Given the description of an element on the screen output the (x, y) to click on. 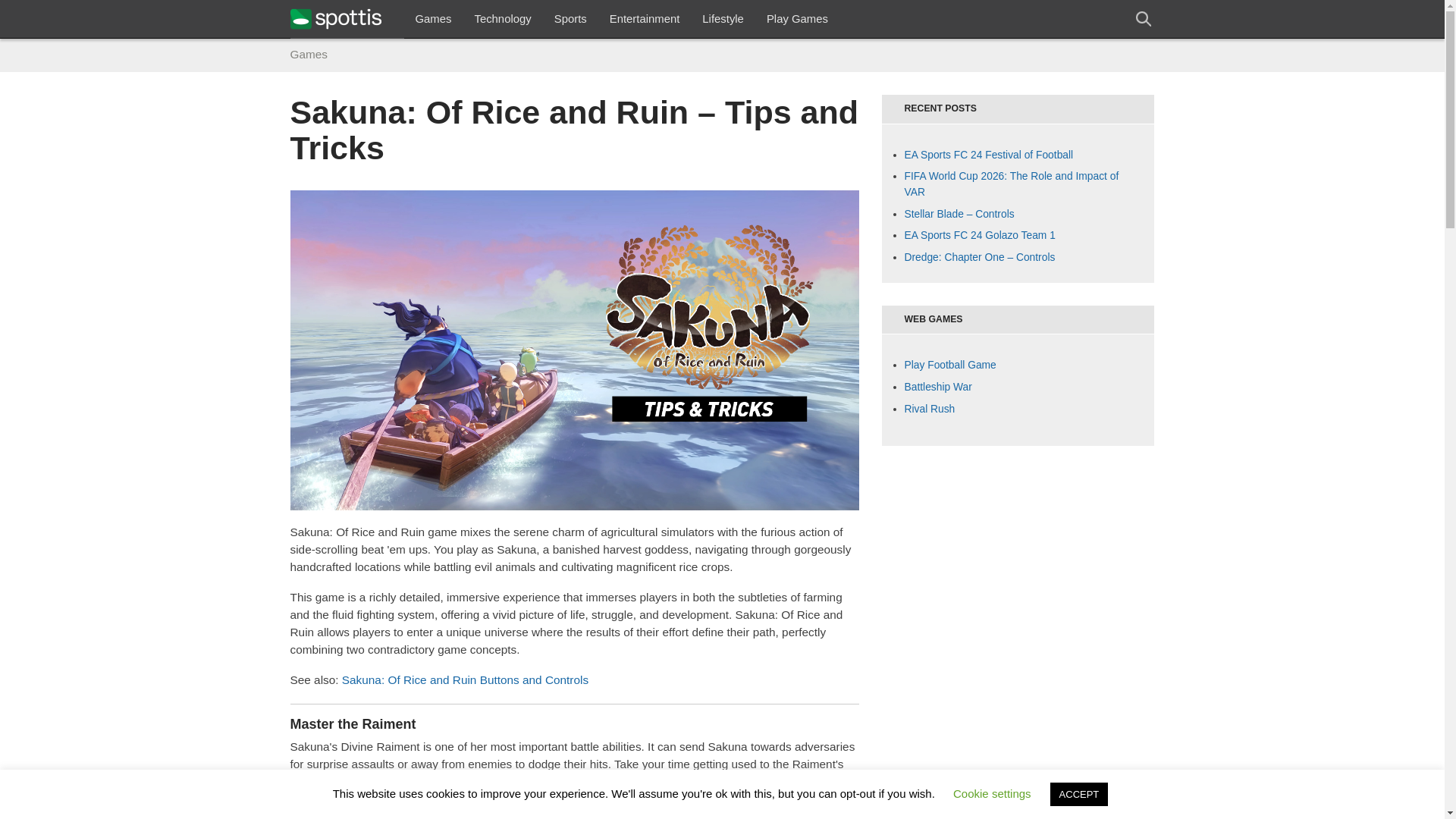
FIFA World Cup 2026: The Role and Impact of VAR (1011, 183)
Games (433, 18)
Contact Us (644, 18)
Tech (502, 18)
Entertainment (644, 18)
Games (433, 18)
Sakuna: Of Rice and Ruin Buttons and Controls (465, 679)
Rival Rush (929, 408)
EA Sports FC 24 Golazo Team 1 (979, 234)
Free Games (797, 18)
Lifestyle (722, 18)
Play Games (797, 18)
Battleship War (937, 386)
Sports (570, 18)
Technology (502, 18)
